Given the description of an element on the screen output the (x, y) to click on. 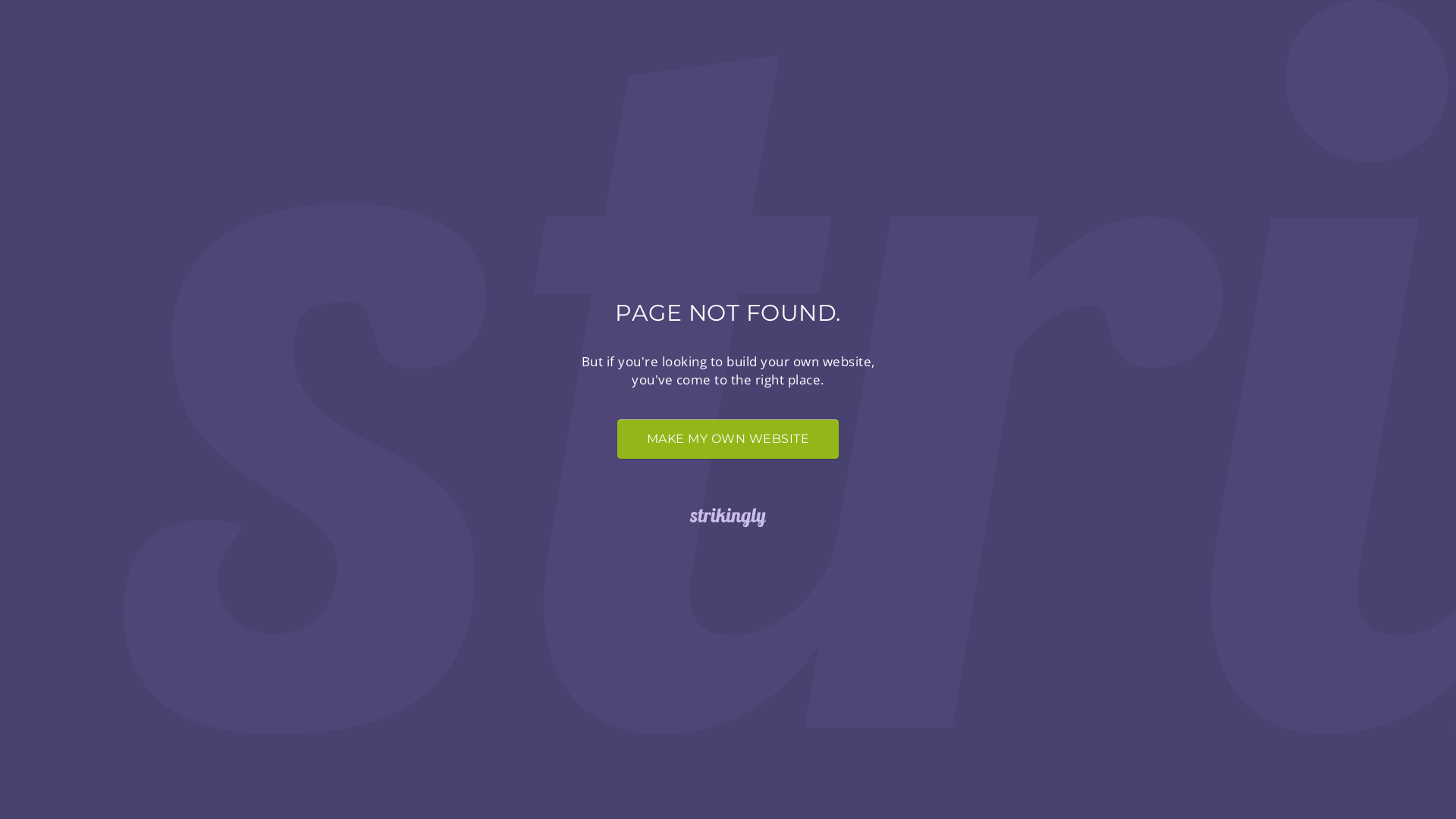
MAKE MY OWN WEBSITE Element type: text (727, 438)
